Given the description of an element on the screen output the (x, y) to click on. 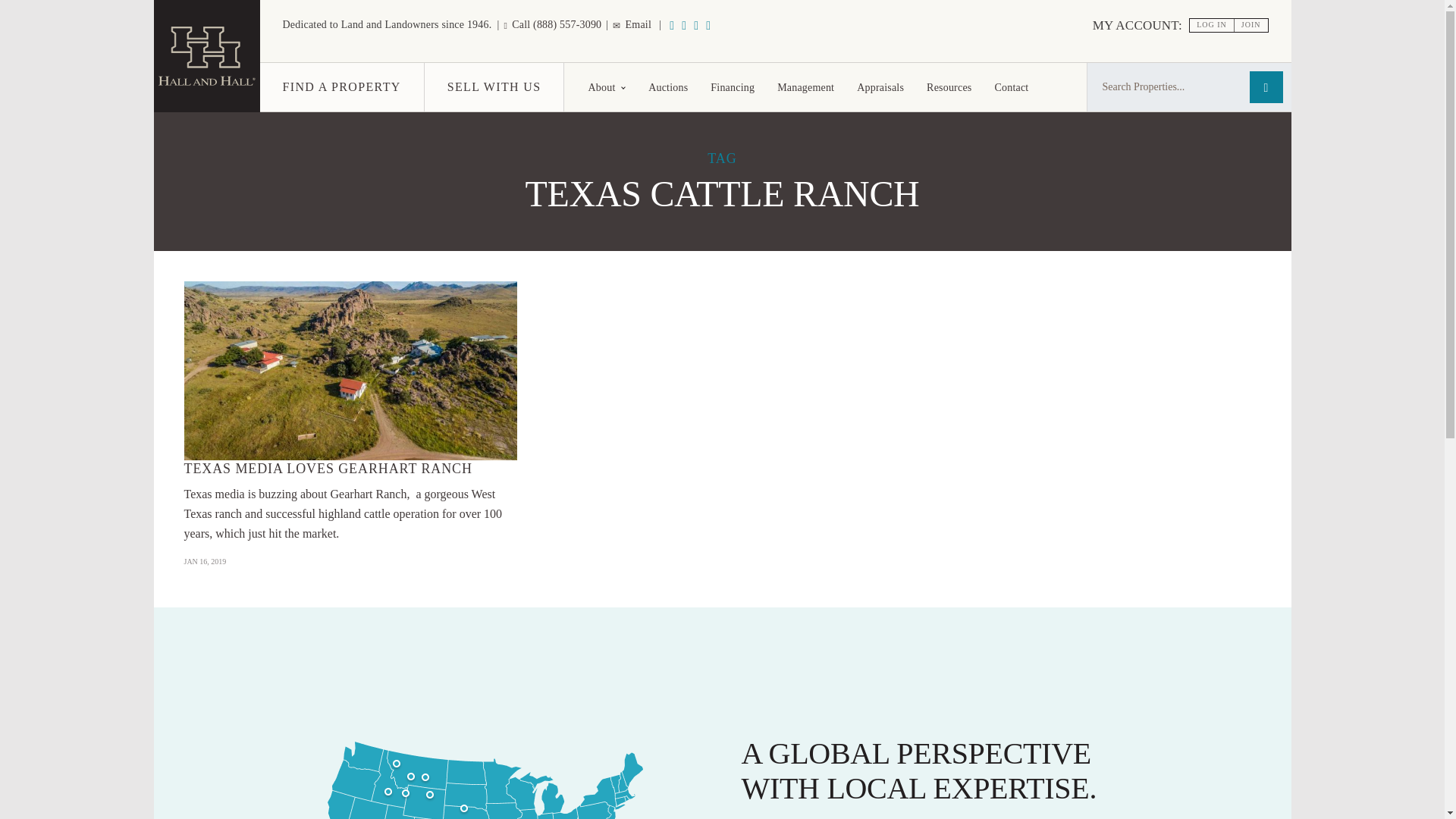
Texas Media Loves Gearhart Ranch (349, 370)
Hall and Hall - Ranches for Sale (205, 56)
Auctions (667, 86)
Appraisals (880, 86)
Management (805, 86)
LOG IN (1211, 24)
Visit our Facebook (696, 24)
Visit our Instagram (683, 24)
About (606, 86)
Search (1265, 87)
Email (631, 24)
Visit our Twitter (708, 24)
Visit our YouTube (671, 24)
JOIN (1251, 24)
FIND A PROPERTY (341, 87)
